Given the description of an element on the screen output the (x, y) to click on. 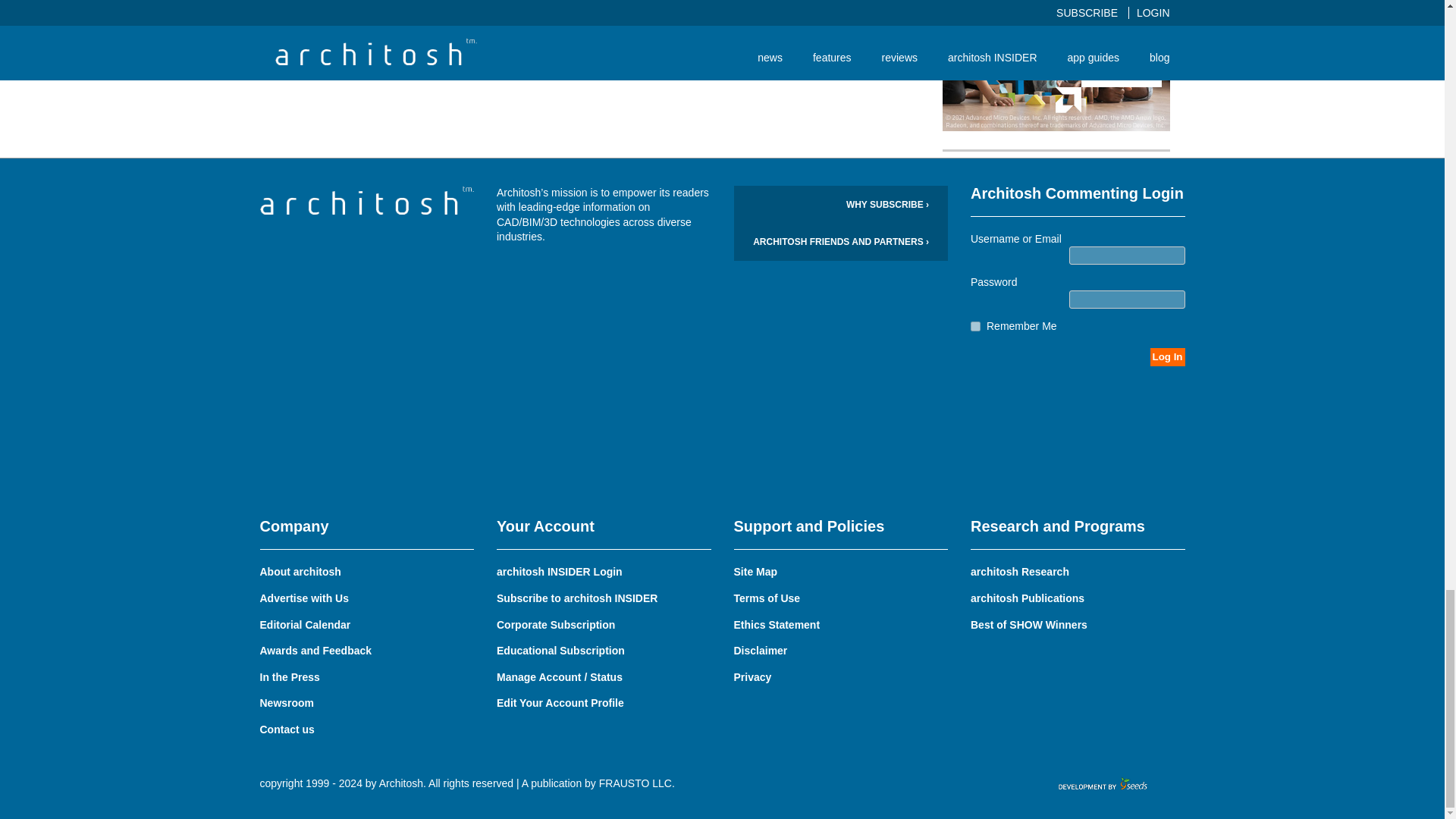
forever (975, 326)
Development by 9seeds (1104, 783)
Log In (1167, 357)
